Given the description of an element on the screen output the (x, y) to click on. 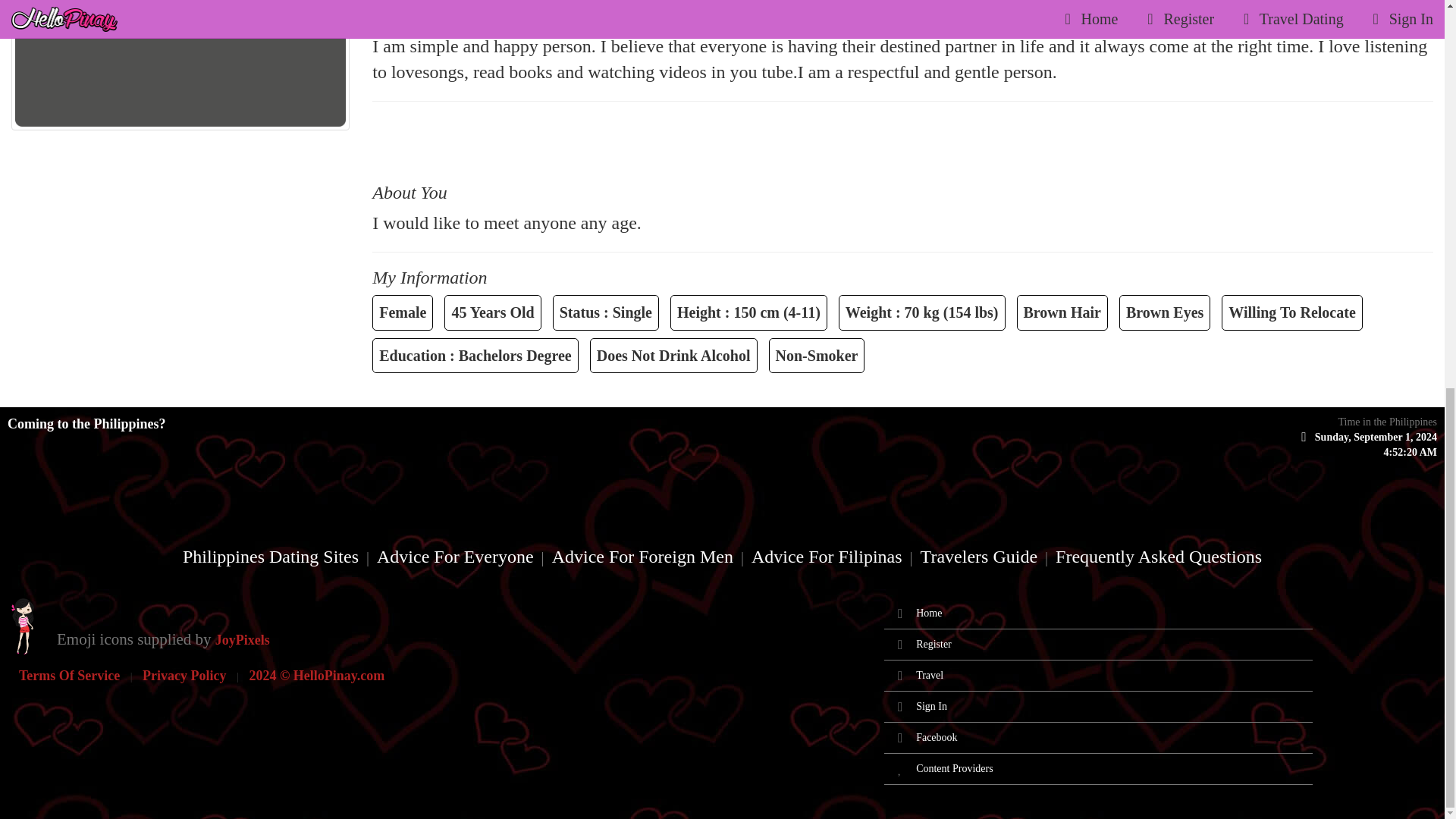
Advice For Everyone (454, 556)
Coming to the Philippines? (86, 423)
Facebook (935, 737)
Frequently Asked Questions (1158, 556)
Home (928, 613)
Content Providers (953, 767)
Philippines Dating Sites (270, 556)
Advice For Foreign Men (642, 556)
Terms Of Service (68, 675)
Sign In (931, 706)
